Given the description of an element on the screen output the (x, y) to click on. 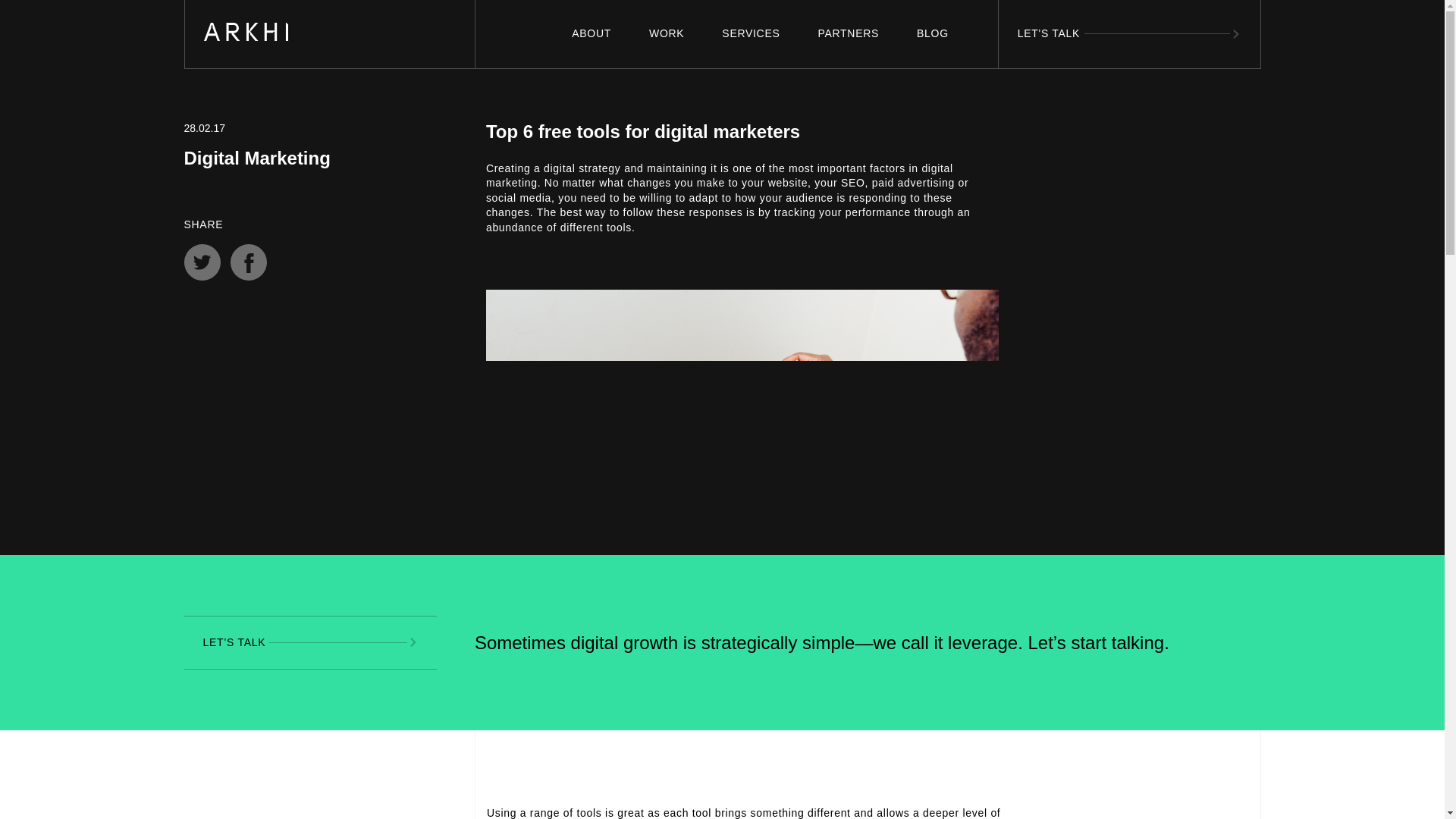
LET'S TALK (1129, 33)
PARTNERS (848, 33)
SERVICES (750, 33)
Digital Marketing (256, 158)
ABOUT (591, 33)
Arkhi (216, 51)
